Given the description of an element on the screen output the (x, y) to click on. 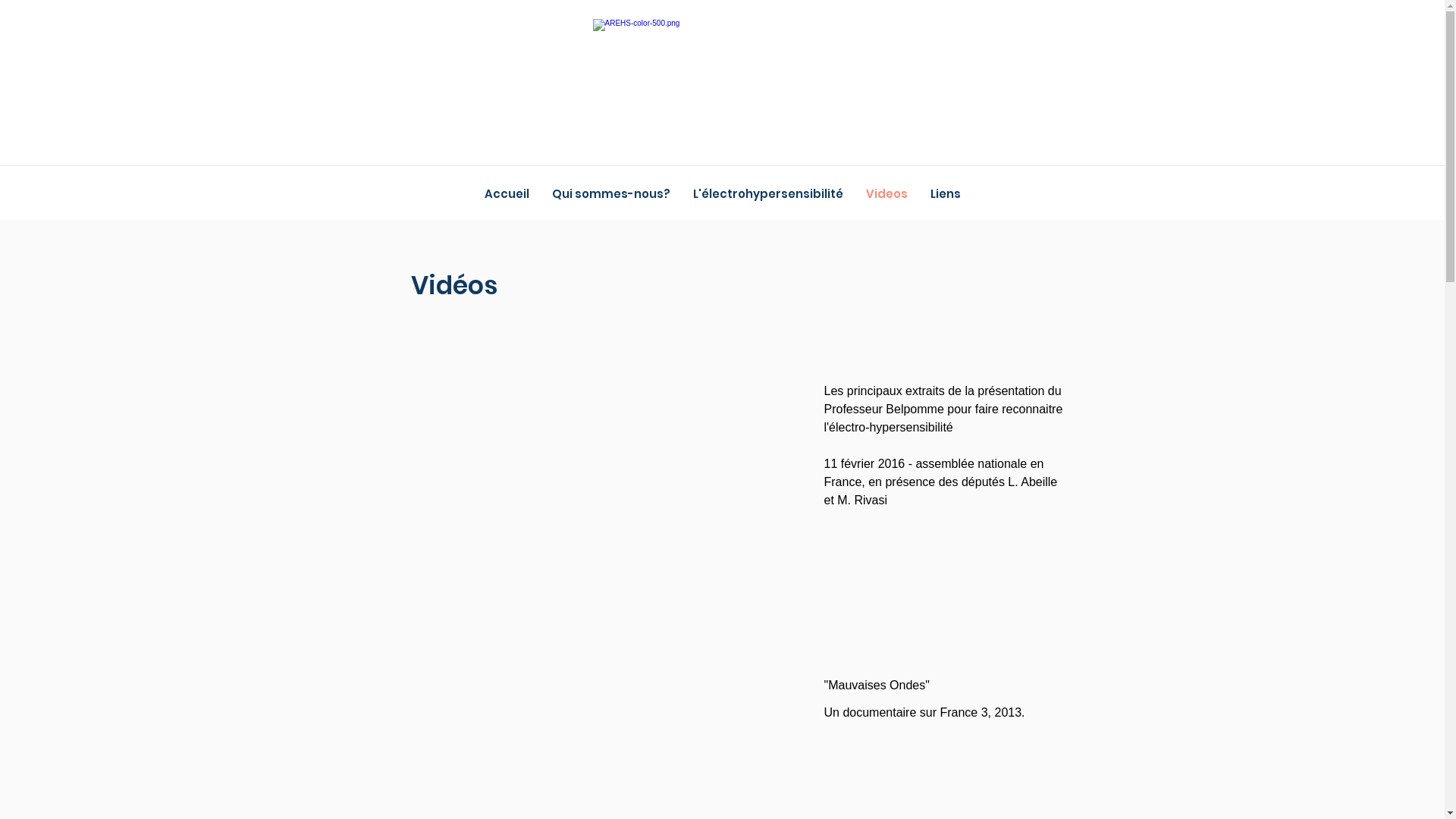
Accueil Element type: text (506, 194)
Qui sommes-nous? Element type: text (609, 194)
Videos Element type: text (885, 194)
Liens Element type: text (945, 194)
